Given the description of an element on the screen output the (x, y) to click on. 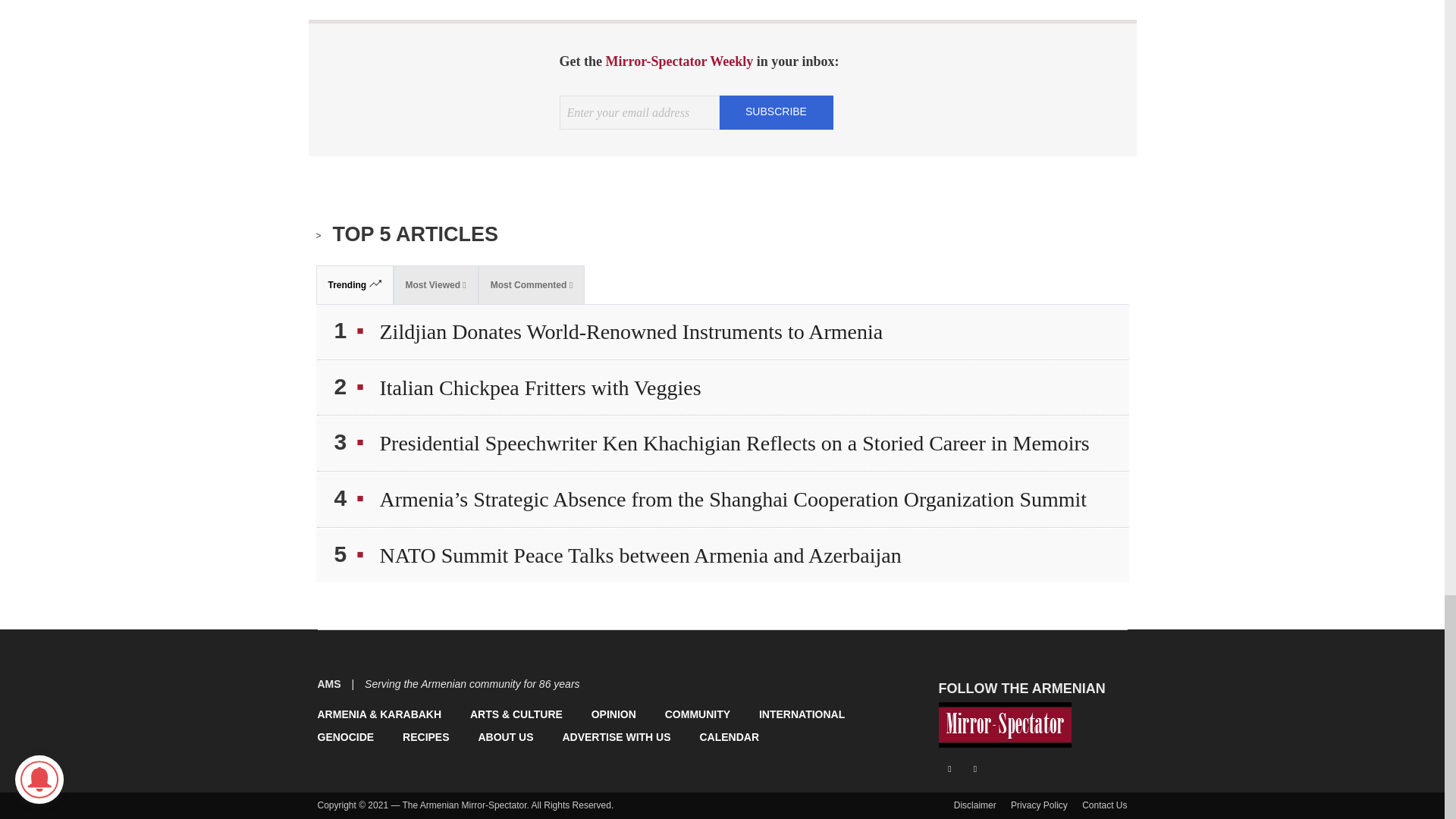
SUBSCRIBE (775, 111)
